Given the description of an element on the screen output the (x, y) to click on. 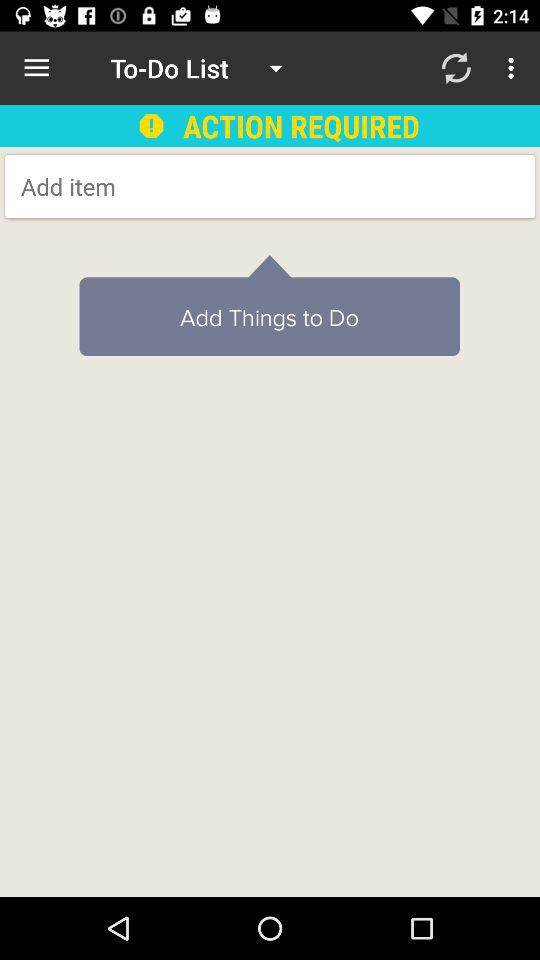
add things to do (181, 186)
